Given the description of an element on the screen output the (x, y) to click on. 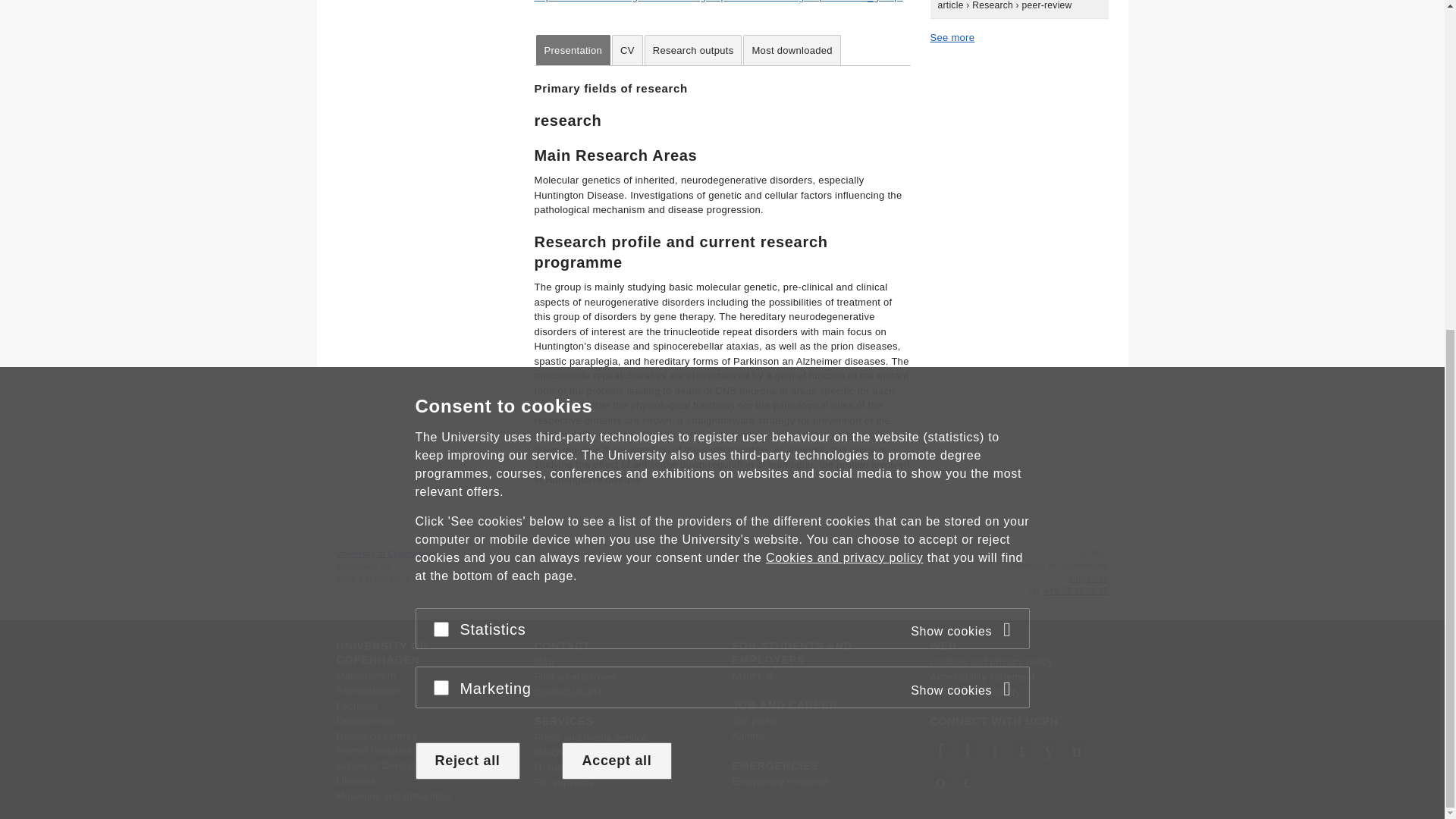
Phone number (1034, 590)
